Given the description of an element on the screen output the (x, y) to click on. 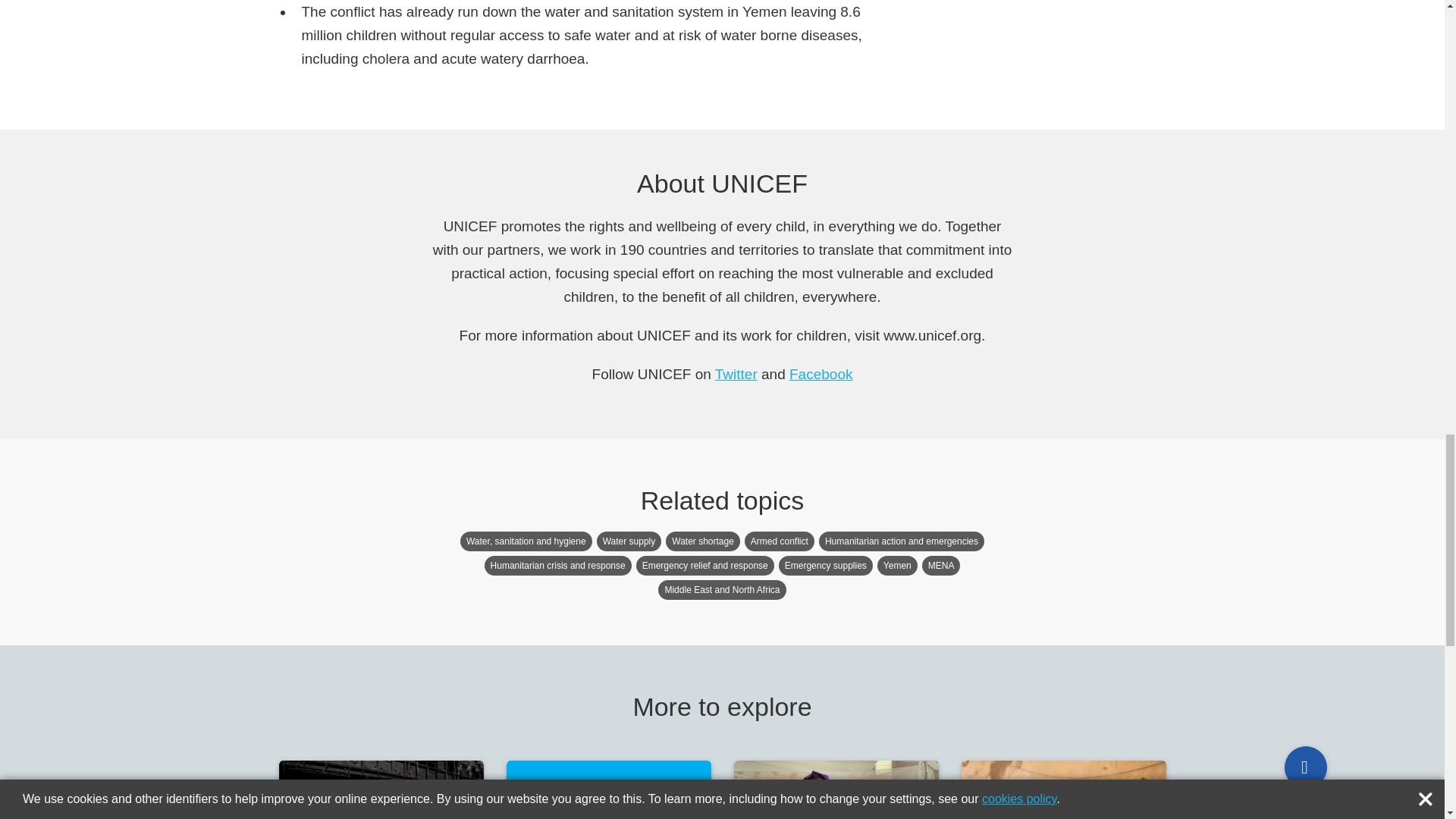
Armed conflict (778, 541)
Water shortage (702, 541)
Emergency relief and response (705, 565)
Twitter (735, 374)
Water, sanitation and hygiene (526, 541)
Facebook (820, 374)
Humanitarian crisis and response (557, 565)
Water supply (629, 541)
Humanitarian action and emergencies (901, 541)
